Given the description of an element on the screen output the (x, y) to click on. 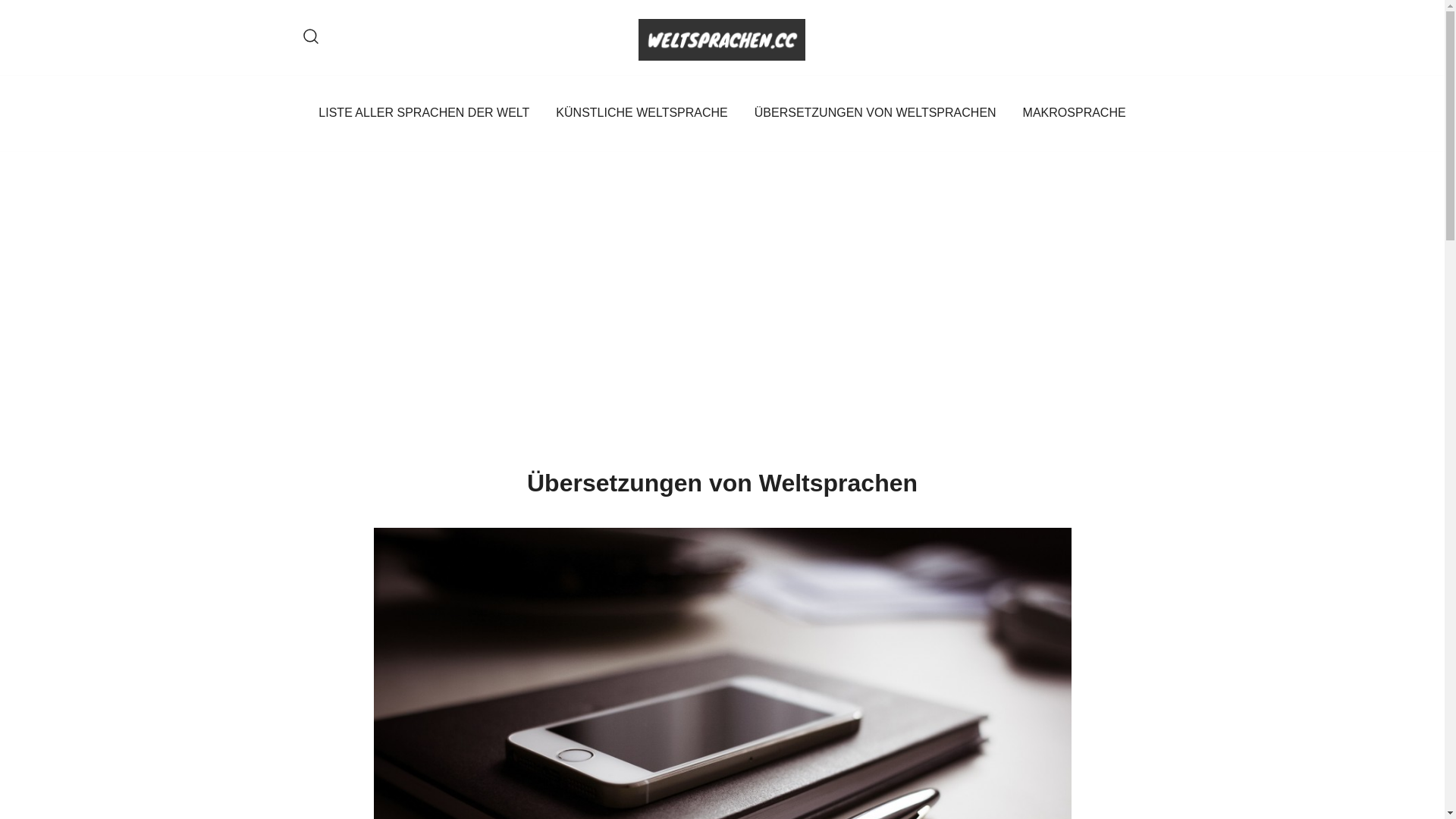
Ein Produkt suchen Element type: hover (310, 37)
LISTE ALLER SPRACHEN DER WELT Element type: text (423, 113)
MAKROSPRACHE Element type: text (1074, 113)
Advertisement Element type: hover (721, 265)
